Given the description of an element on the screen output the (x, y) to click on. 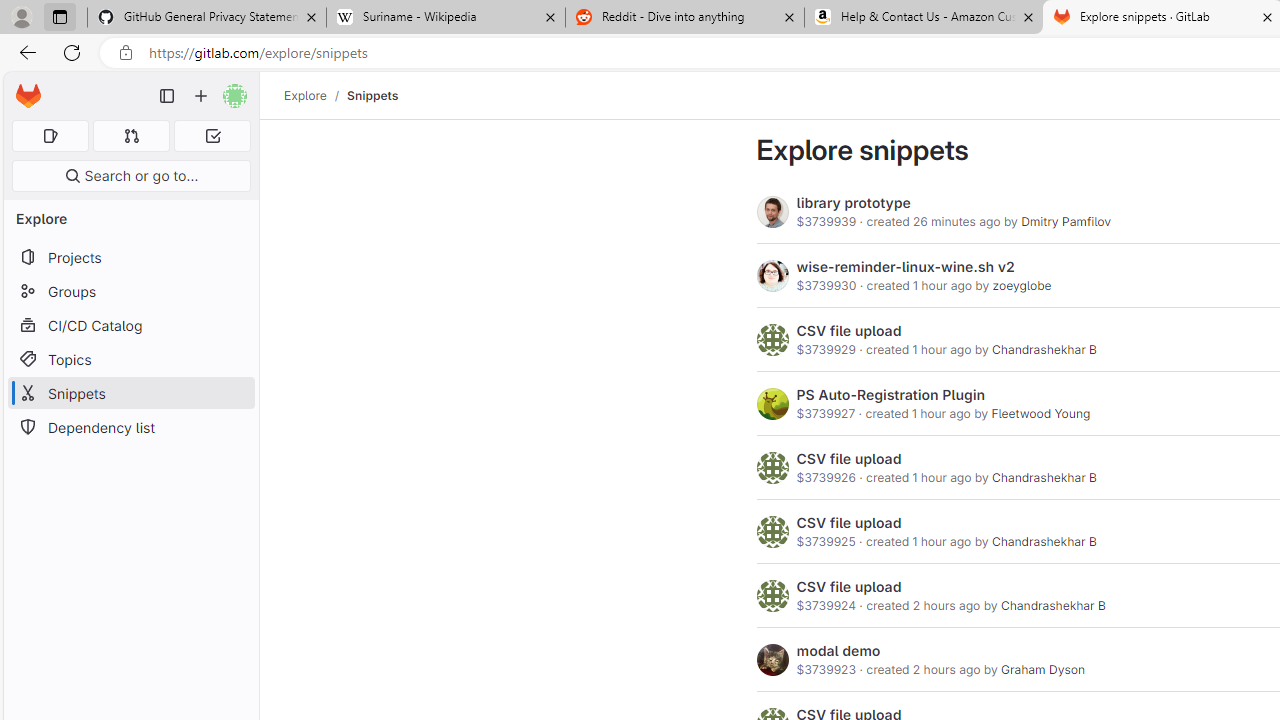
Topics (130, 358)
Chandrashekhar B (1052, 606)
CI/CD Catalog (130, 325)
Groups (130, 291)
CSV file upload (849, 587)
Create new... (201, 96)
Dependency list (130, 427)
wise-reminder-linux-wine.sh v2 (905, 266)
Graham Dyson (1042, 669)
Reddit - Dive into anything (684, 17)
CI/CD Catalog (130, 325)
Primary navigation sidebar (167, 96)
